Given the description of an element on the screen output the (x, y) to click on. 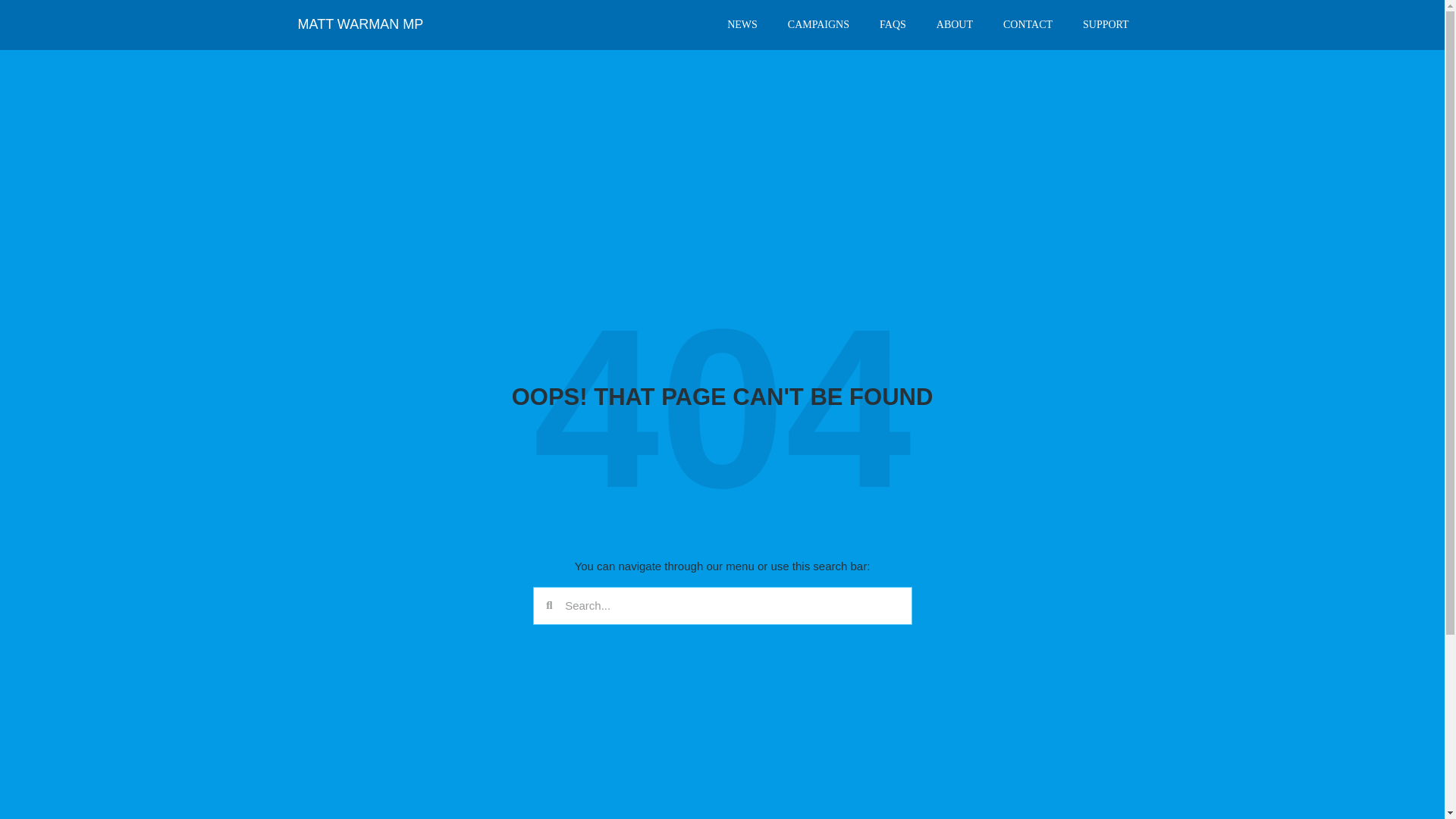
Search (731, 605)
NEWS (742, 24)
SUPPORT (1105, 24)
CAMPAIGNS (818, 24)
FAQS (892, 24)
MATT WARMAN MP (360, 23)
CONTACT (1027, 24)
ABOUT (954, 24)
